Given the description of an element on the screen output the (x, y) to click on. 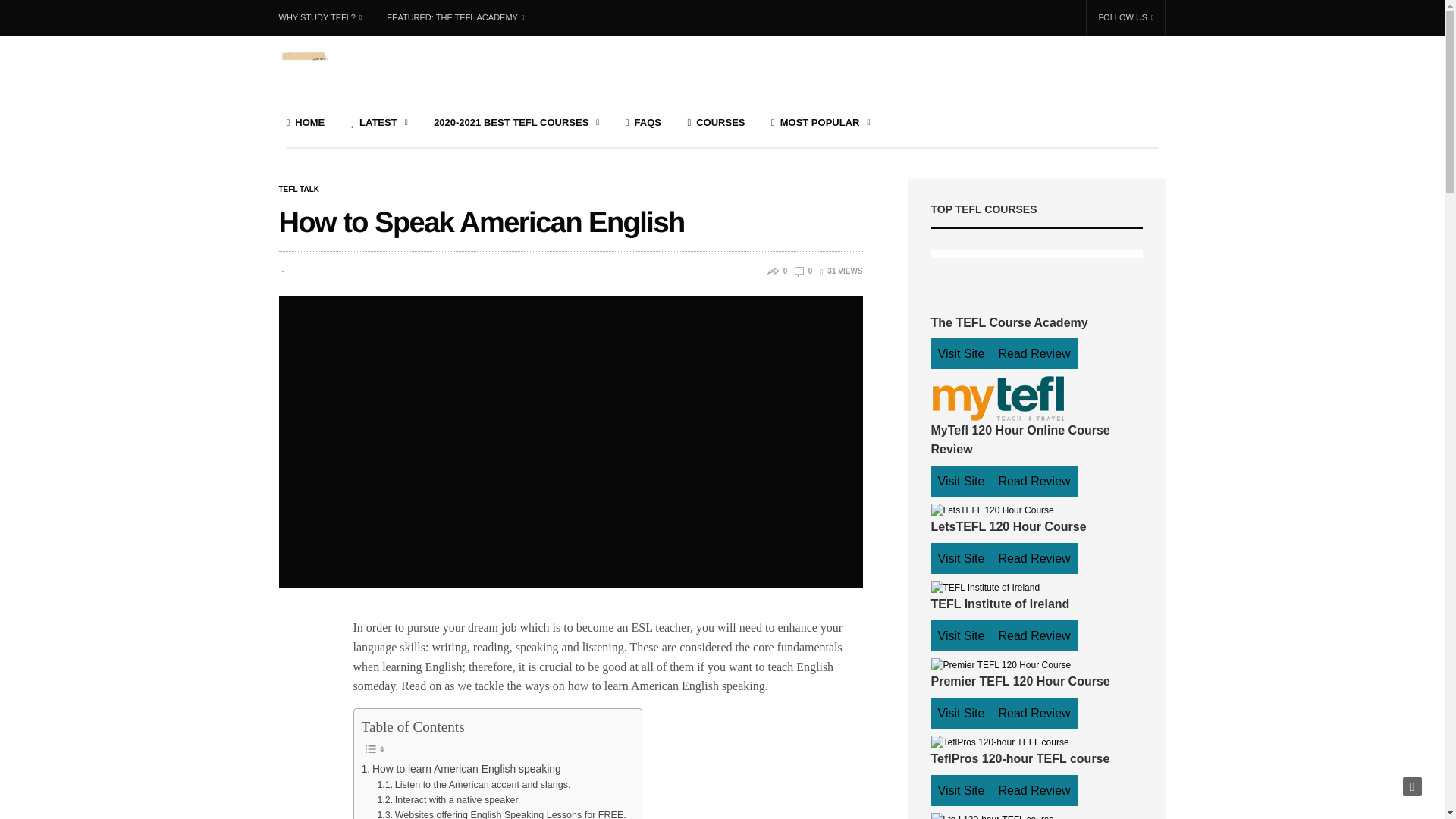
FOLLOW US (1125, 18)
FEATURED: THE TEFL ACADEMY (455, 18)
HOME (305, 122)
LATEST (378, 122)
WHY STUDY TEFL? (326, 18)
